Given the description of an element on the screen output the (x, y) to click on. 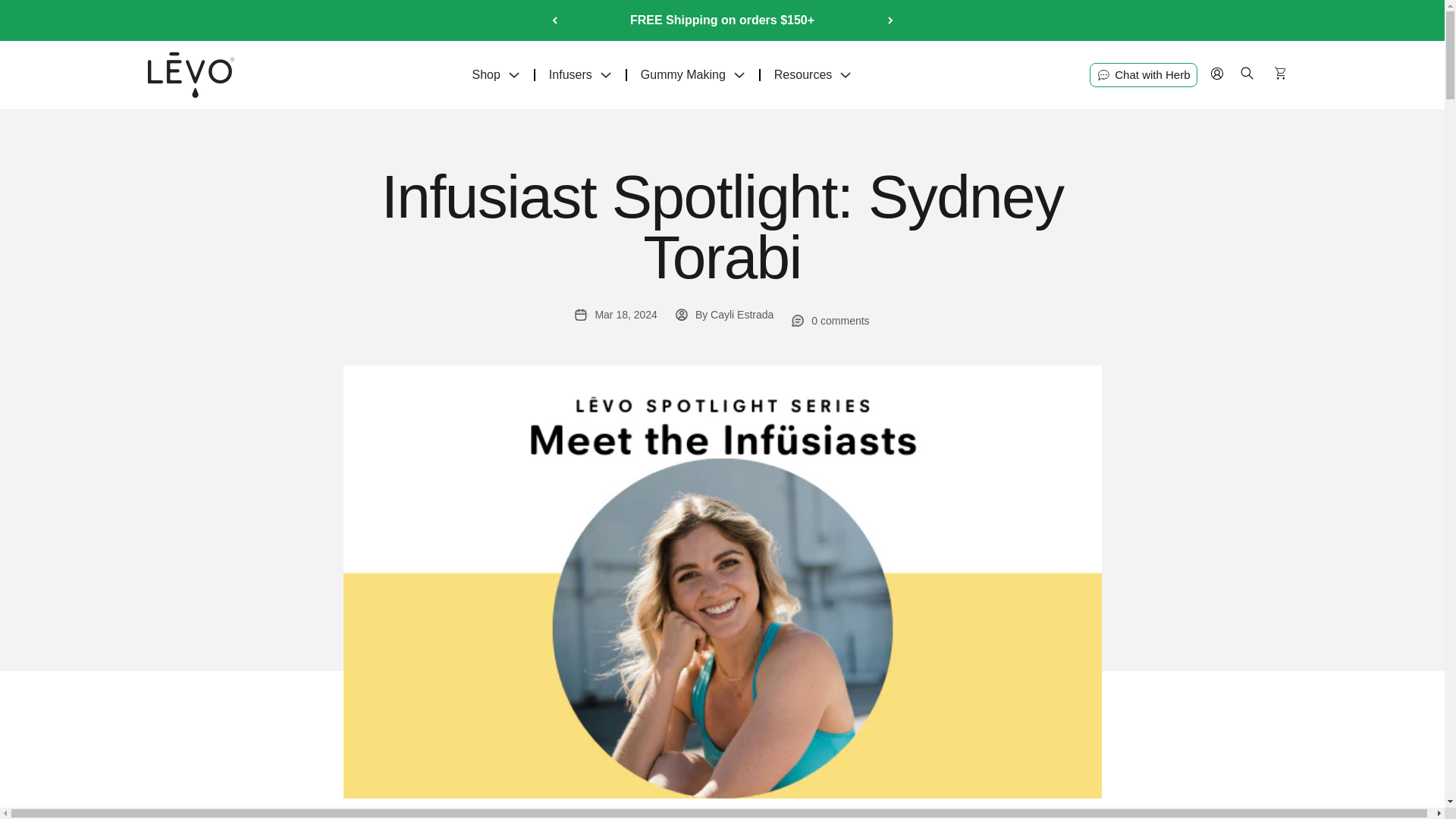
Gummy Making (692, 74)
Resources (812, 74)
Infusers (580, 74)
Search our store (1246, 78)
Cart (1279, 75)
Shop (495, 74)
Chat with Herb (1142, 74)
Log In (1216, 73)
